Given the description of an element on the screen output the (x, y) to click on. 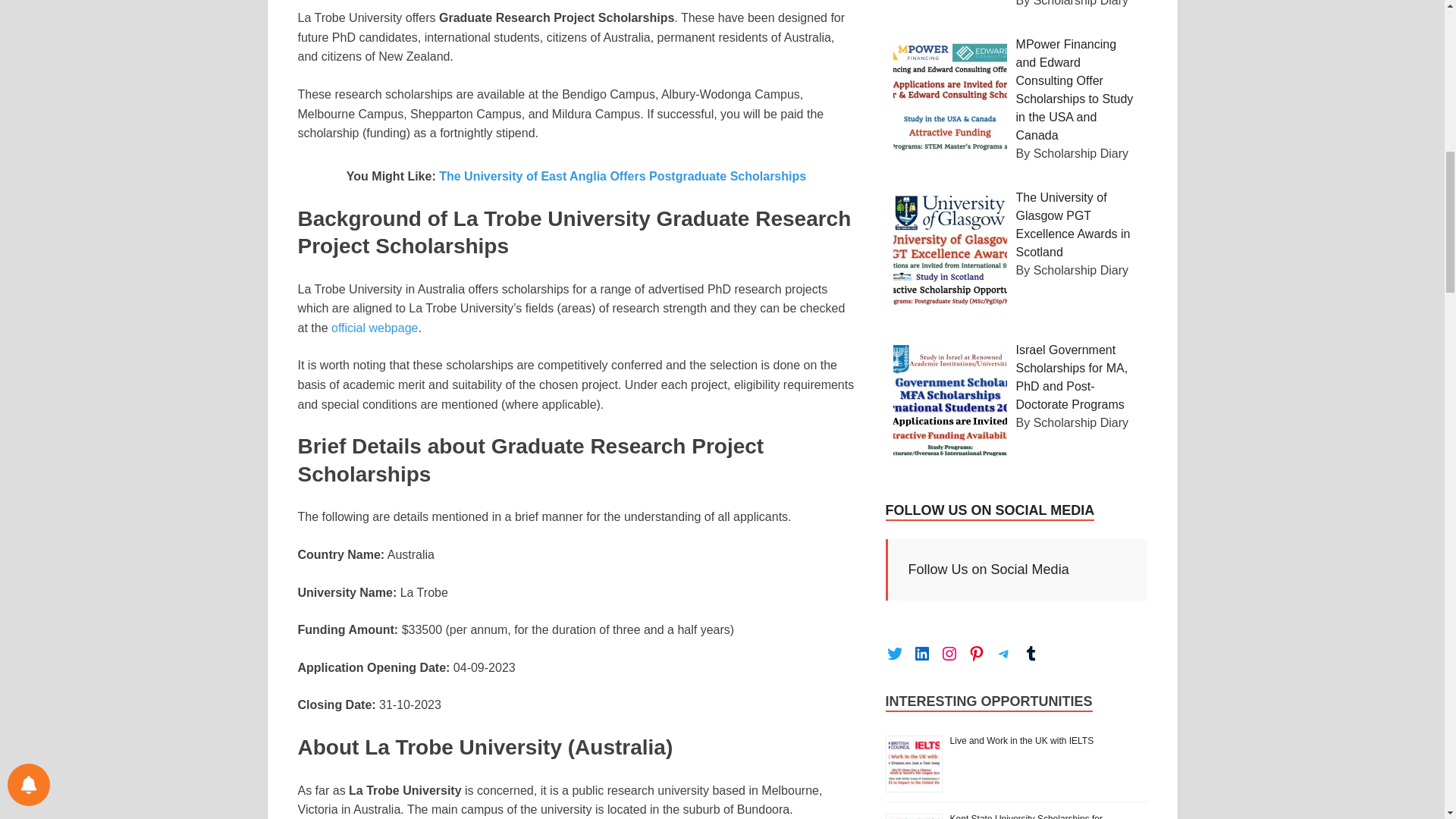
official webpage (374, 327)
